Given the description of an element on the screen output the (x, y) to click on. 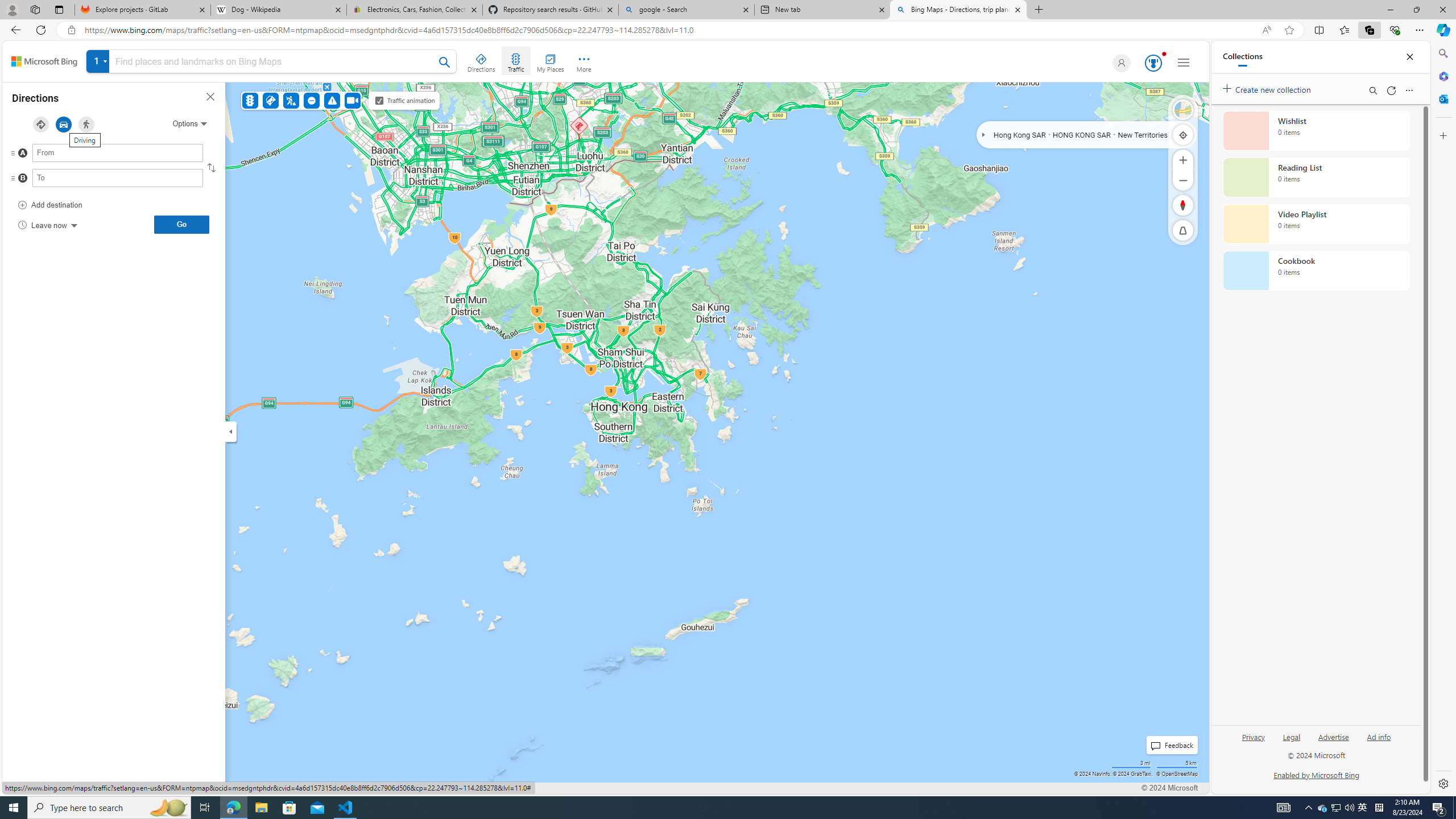
Miscellaneous incidents (332, 100)
Legal (1291, 736)
1 (270, 62)
Reverse (210, 166)
Create new collection (1268, 87)
B (95, 181)
Search Bing Maps (444, 61)
Default Profile Picture (1119, 62)
